Given the description of an element on the screen output the (x, y) to click on. 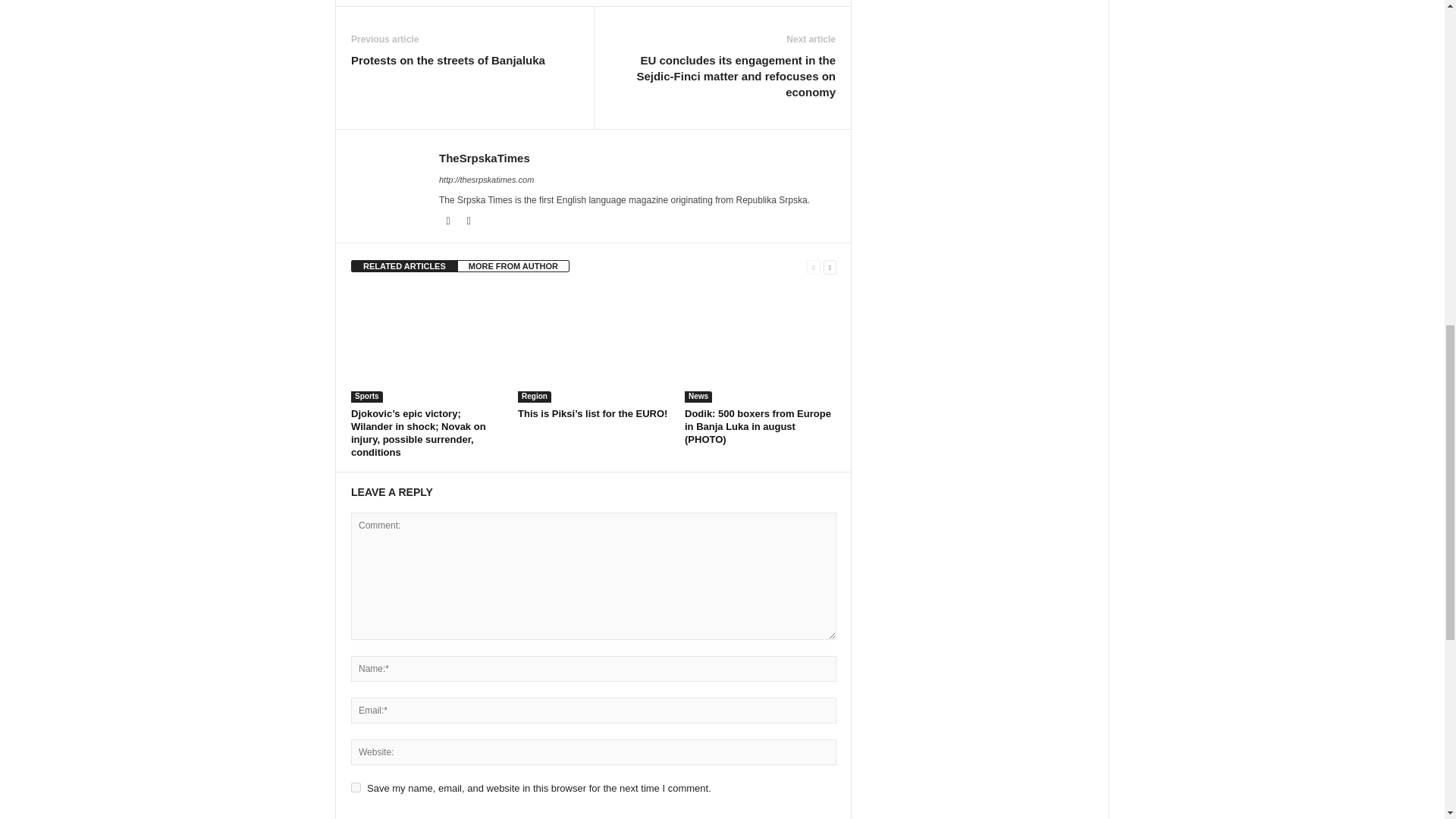
Facebook (449, 221)
Twitter (468, 221)
yes (355, 787)
